Given the description of an element on the screen output the (x, y) to click on. 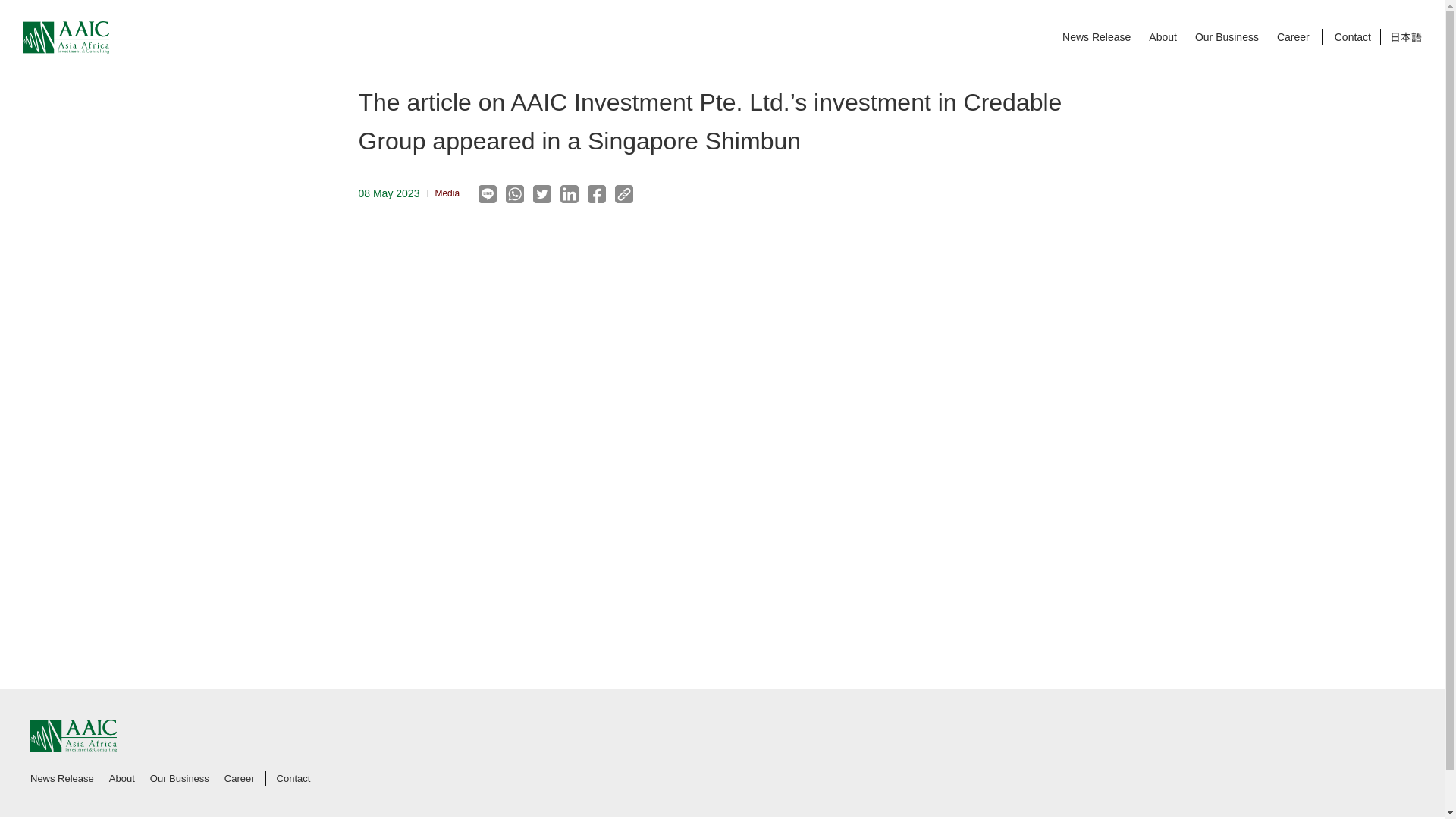
Our Business (179, 778)
Contact (1353, 37)
Career (1292, 37)
News Release (1096, 37)
HOME (371, 29)
About (122, 778)
News Release (62, 778)
Our Business (1227, 37)
News Release (435, 29)
About (1162, 37)
